Given the description of an element on the screen output the (x, y) to click on. 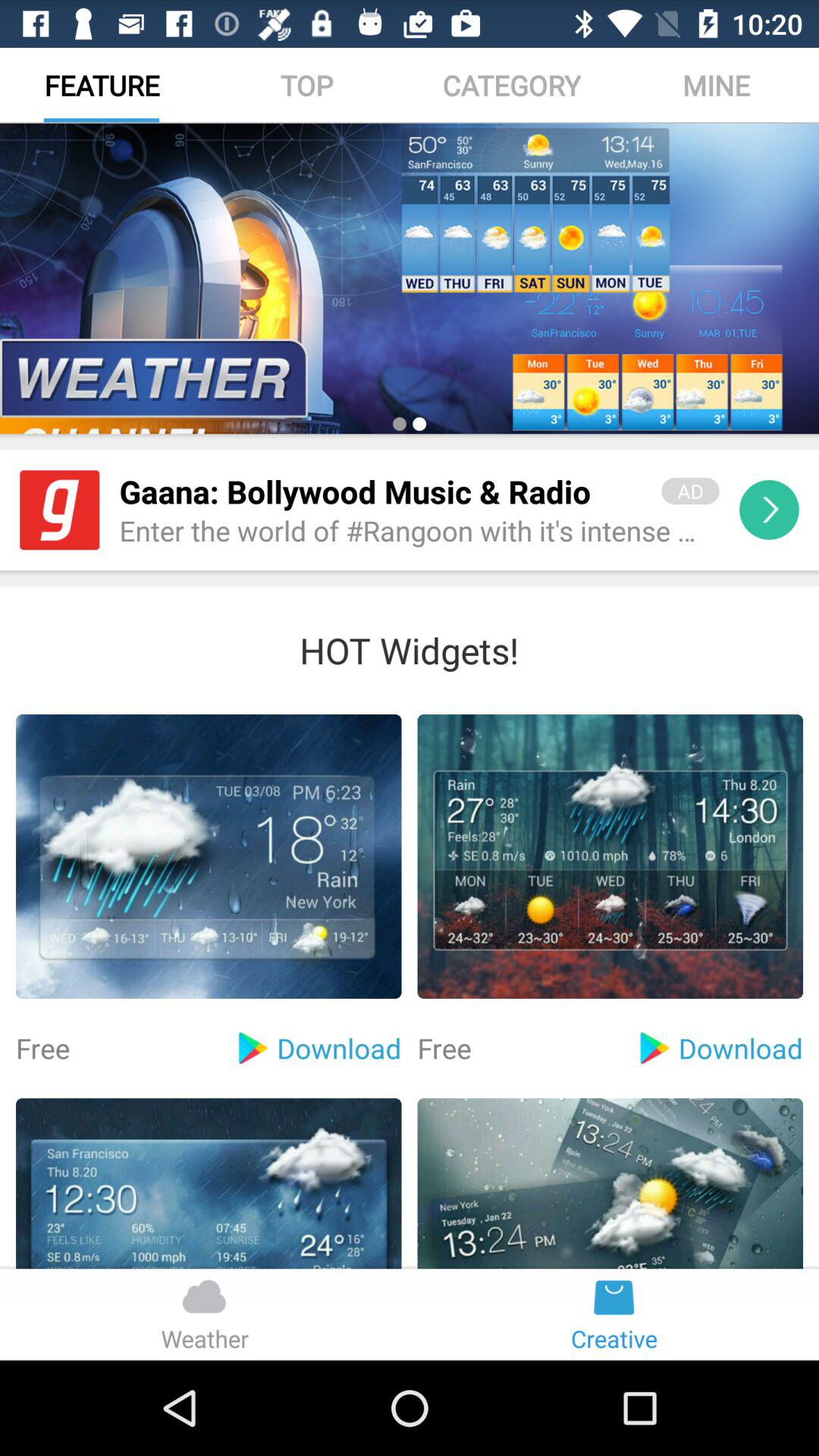
turn off the item above enter the world item (380, 491)
